Given the description of an element on the screen output the (x, y) to click on. 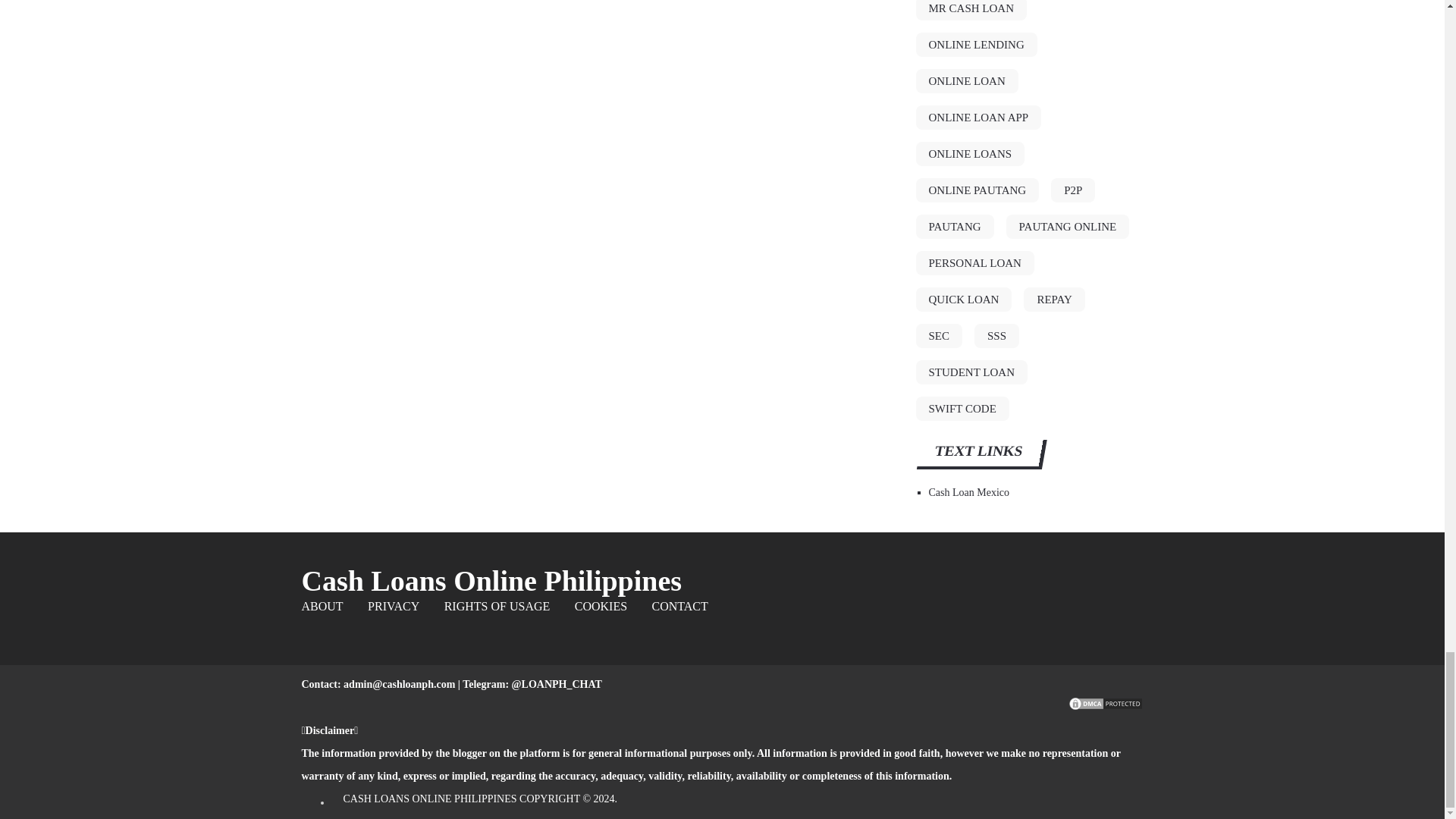
DMCA.com Protection Status (1104, 707)
